Given the description of an element on the screen output the (x, y) to click on. 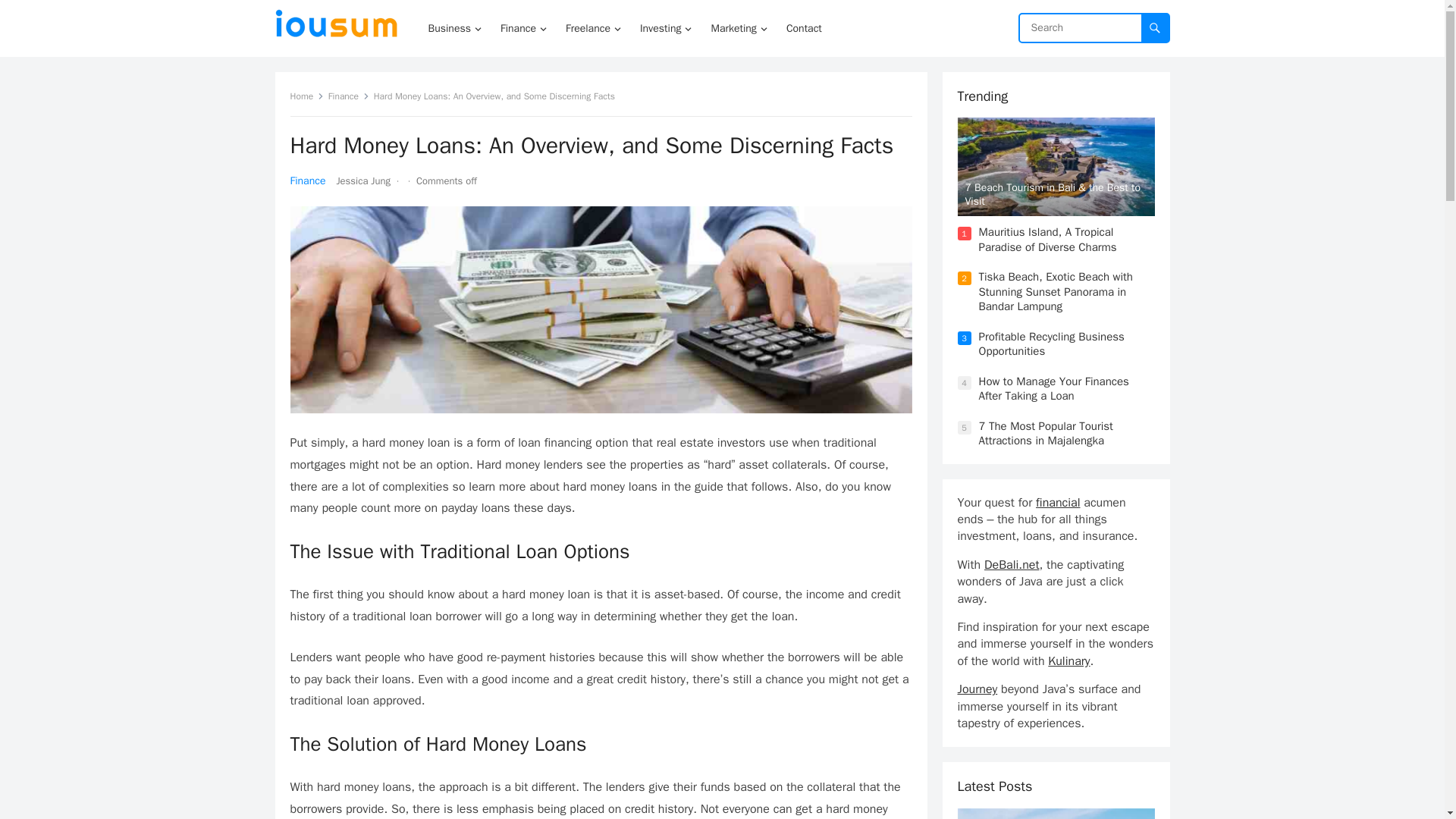
Home (306, 96)
Finance (306, 180)
Freelance (591, 28)
Finance (349, 96)
Posts by Jessica Jung (363, 180)
Contact (804, 28)
Jessica Jung (363, 180)
Finance (522, 28)
Business (453, 28)
Investing (664, 28)
